Given the description of an element on the screen output the (x, y) to click on. 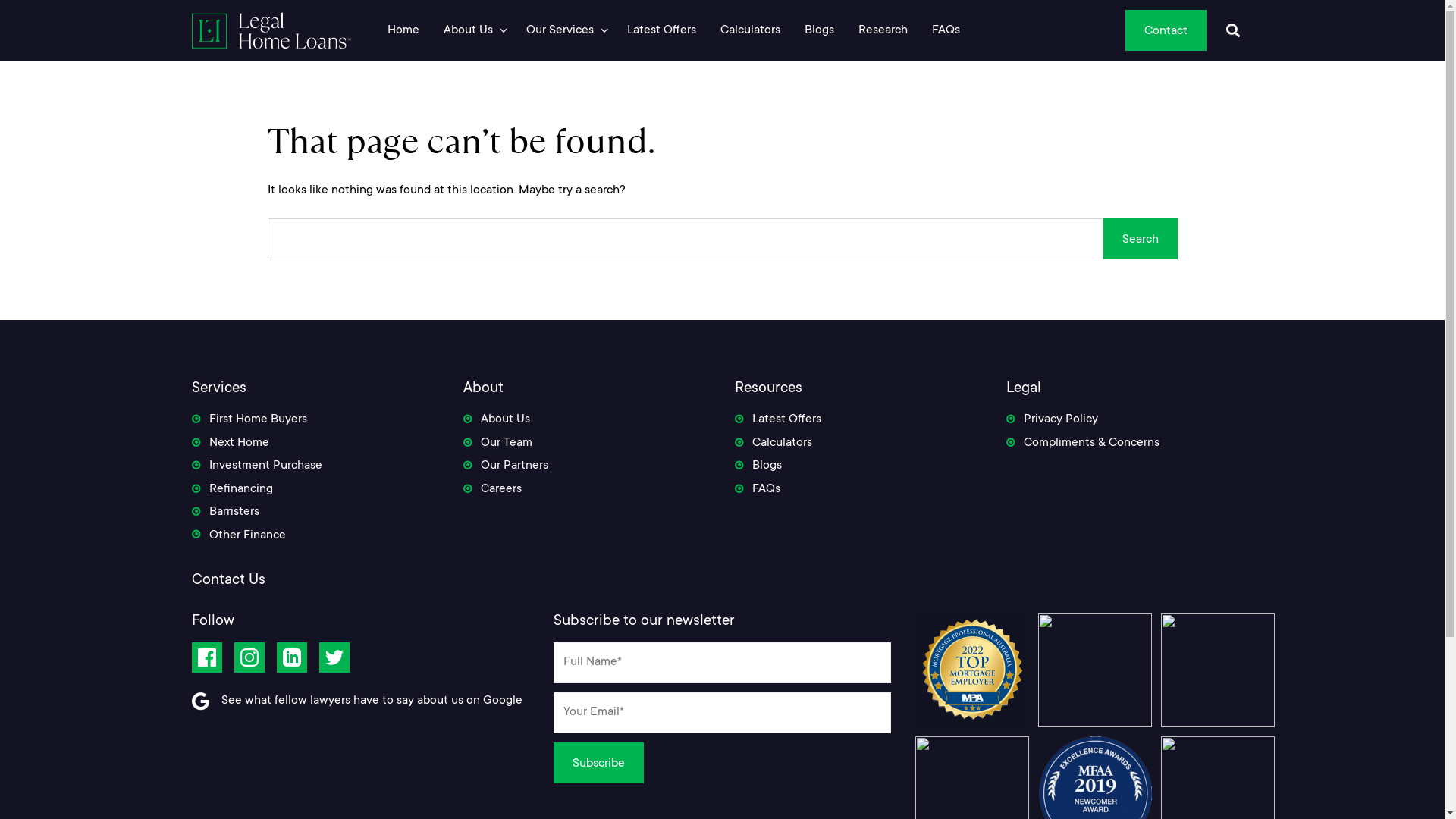
Toggle sub-menu Element type: text (603, 30)
First Home Buyers Element type: text (248, 420)
Careers Element type: text (491, 490)
Toggle sub-menu Element type: text (503, 30)
Other Finance Element type: text (238, 536)
Calculators Element type: text (772, 444)
About Us Element type: text (495, 420)
FAQs Element type: text (756, 490)
Twitter Element type: text (333, 657)
Our Services Element type: text (559, 30)
LinkedIn Element type: text (291, 657)
Blogs Element type: text (818, 30)
Compliments & Concerns Element type: text (1081, 444)
About Us Element type: text (467, 30)
Subscribe Element type: text (598, 762)
See what fellow lawyers have to say about us on Google Element type: text (371, 700)
Our Partners Element type: text (504, 466)
Investment Purchase Element type: text (256, 466)
Privacy Policy Element type: text (1051, 420)
FAQs Element type: text (945, 30)
Facebook Element type: text (206, 657)
Open search Element type: text (1231, 30)
Contact Us Element type: text (227, 580)
Home Element type: text (402, 30)
Latest Offers Element type: text (660, 30)
Contact Element type: text (1165, 29)
Blogs Element type: text (757, 466)
Search Element type: text (1139, 238)
Barristers Element type: text (224, 513)
Our Team Element type: text (496, 444)
Calculators Element type: text (750, 30)
Next Home Element type: text (229, 444)
Latest Offers Element type: text (777, 420)
Research Element type: text (882, 30)
Refinancing Element type: text (231, 490)
Instagram Element type: text (248, 657)
